Given the description of an element on the screen output the (x, y) to click on. 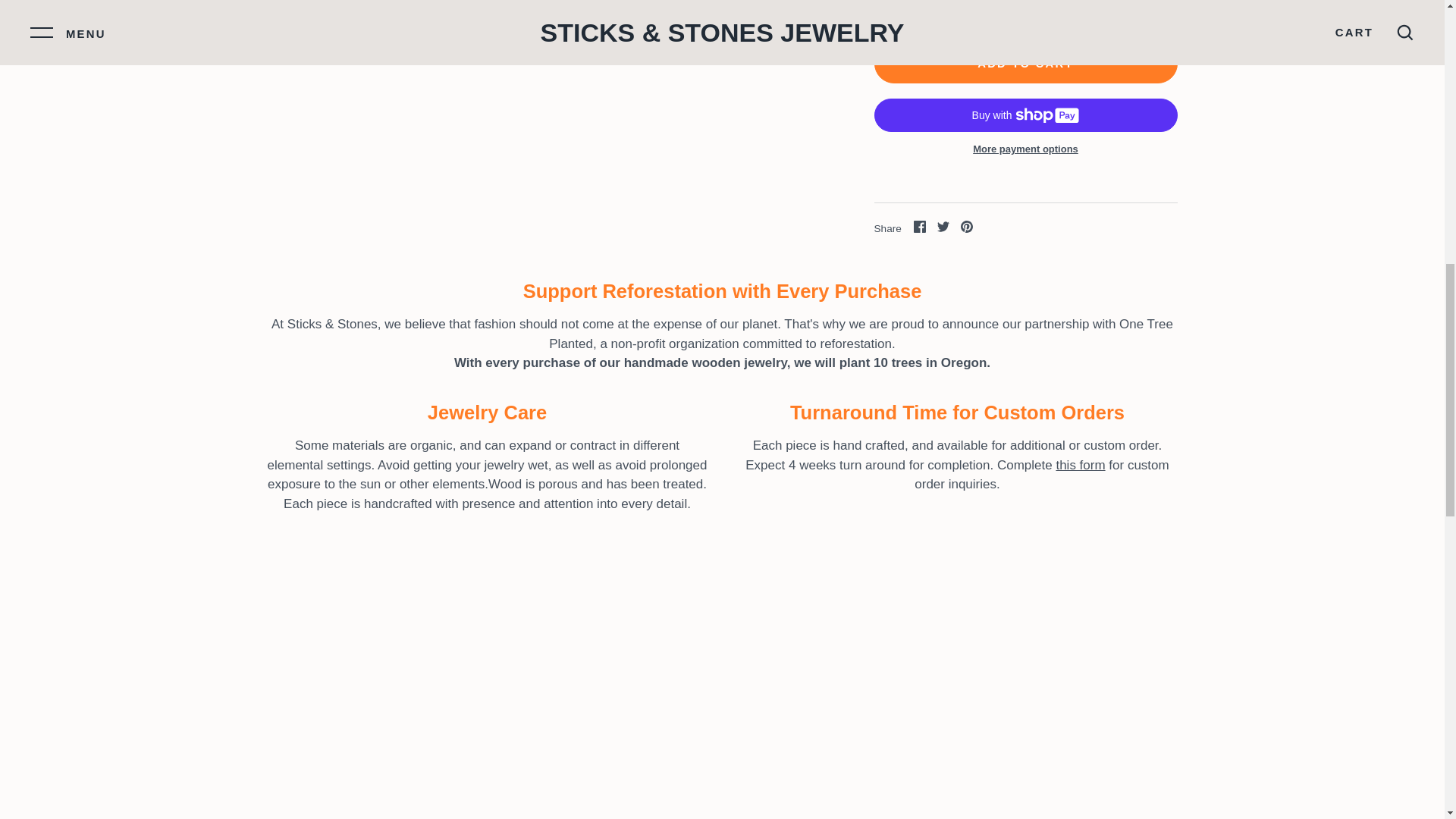
Twitter (943, 226)
Pinterest (966, 226)
Custom Order Inquiry Form (1080, 464)
Facebook (920, 226)
